Given the description of an element on the screen output the (x, y) to click on. 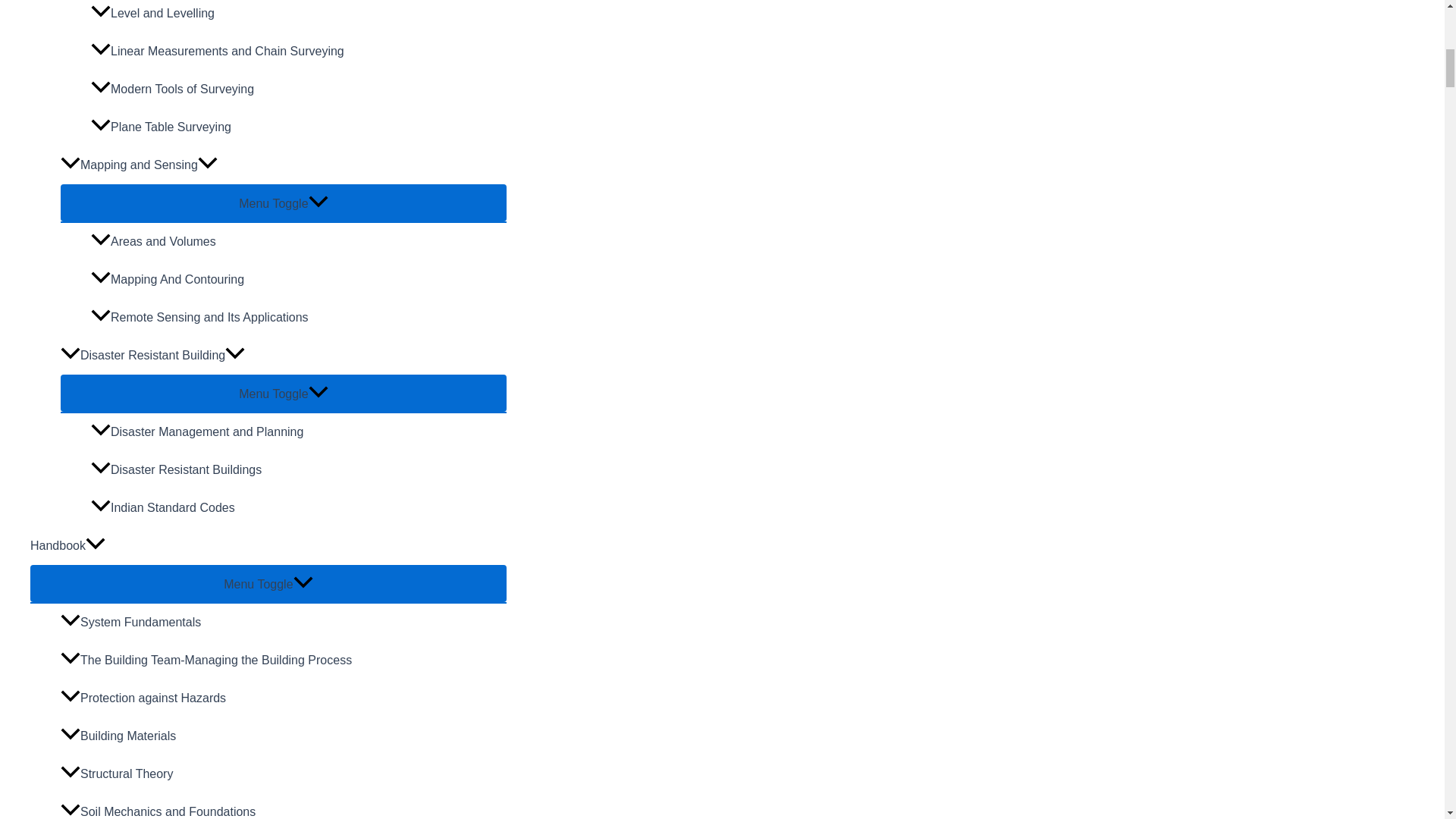
Menu Toggle (283, 392)
Menu Toggle (283, 202)
Level and Levelling (298, 16)
Disaster Resistant Building (283, 355)
Menu Toggle (268, 583)
The Building Team-Managing the Building Process (283, 660)
Indian Standard Codes (298, 507)
Linear Measurements and Chain Surveying (298, 51)
Areas and Volumes (298, 241)
Handbook (268, 546)
Disaster Management and Planning (298, 432)
Mapping And Contouring (298, 279)
Disaster Resistant Buildings (298, 469)
Remote Sensing and Its Applications (298, 317)
Modern Tools of Surveying (298, 89)
